Given the description of an element on the screen output the (x, y) to click on. 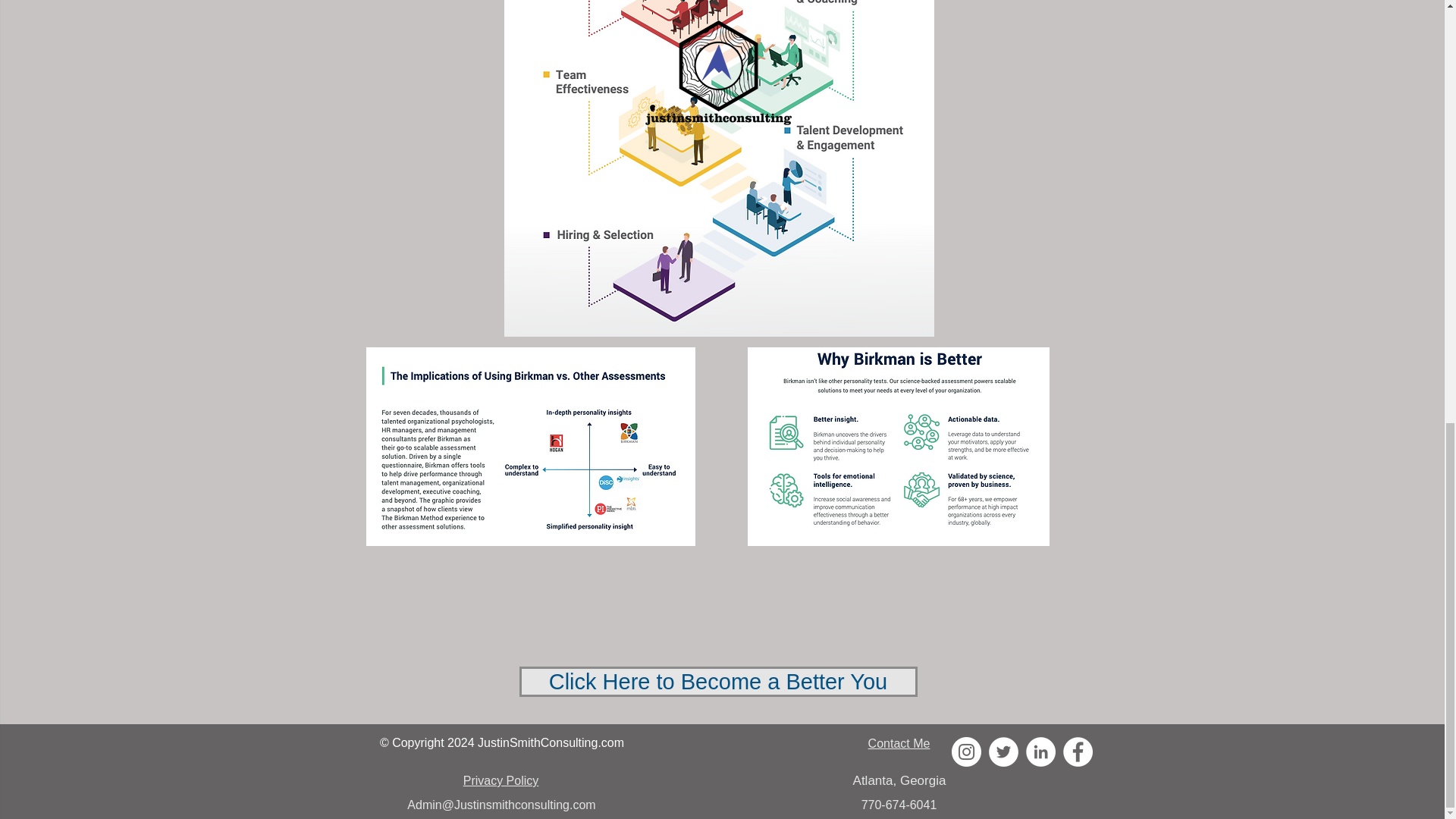
Privacy Policy (500, 780)
Click Here to Become a Better You (717, 681)
Contact Me (898, 743)
